Given the description of an element on the screen output the (x, y) to click on. 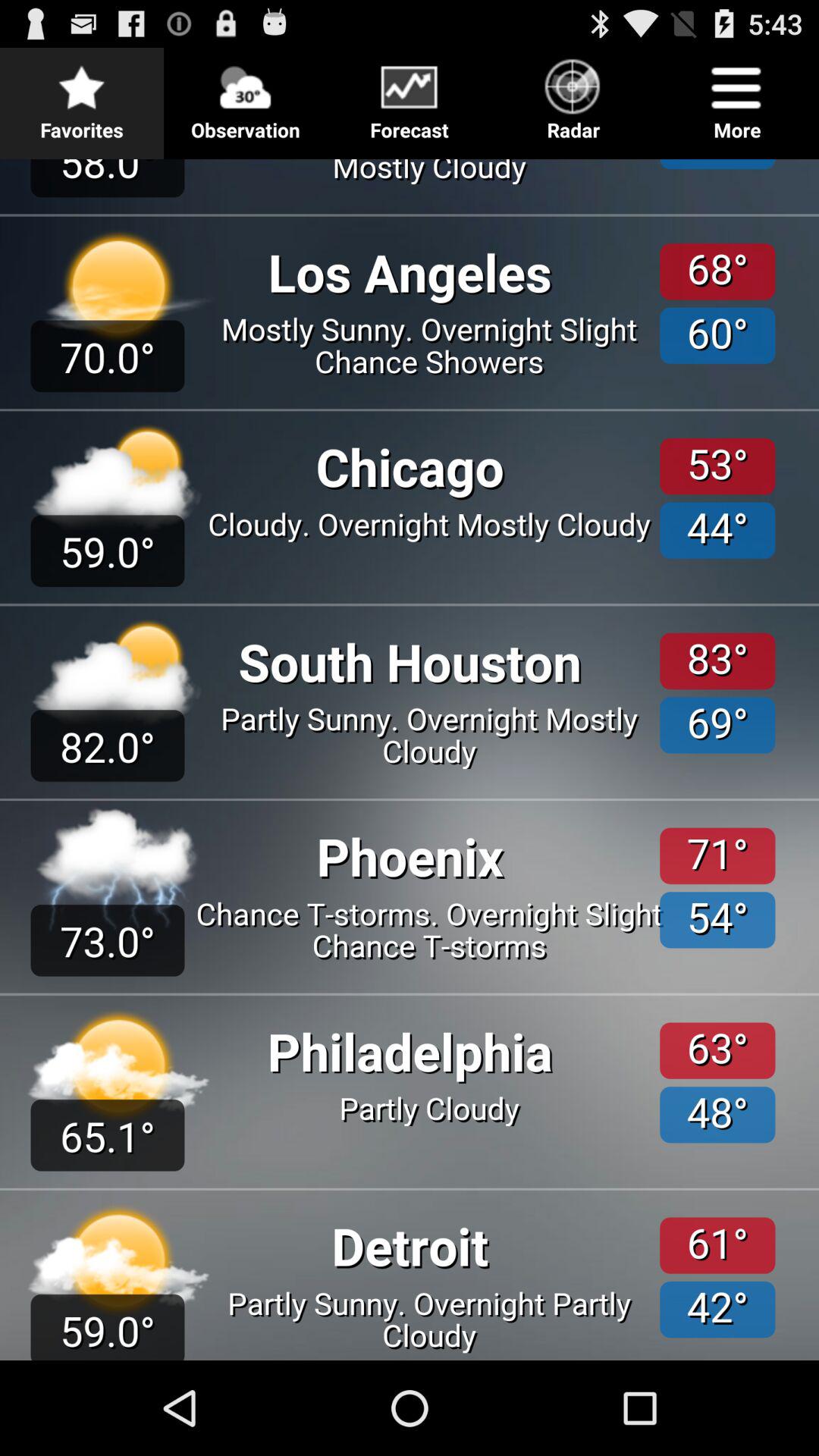
go back (409, 97)
